Given the description of an element on the screen output the (x, y) to click on. 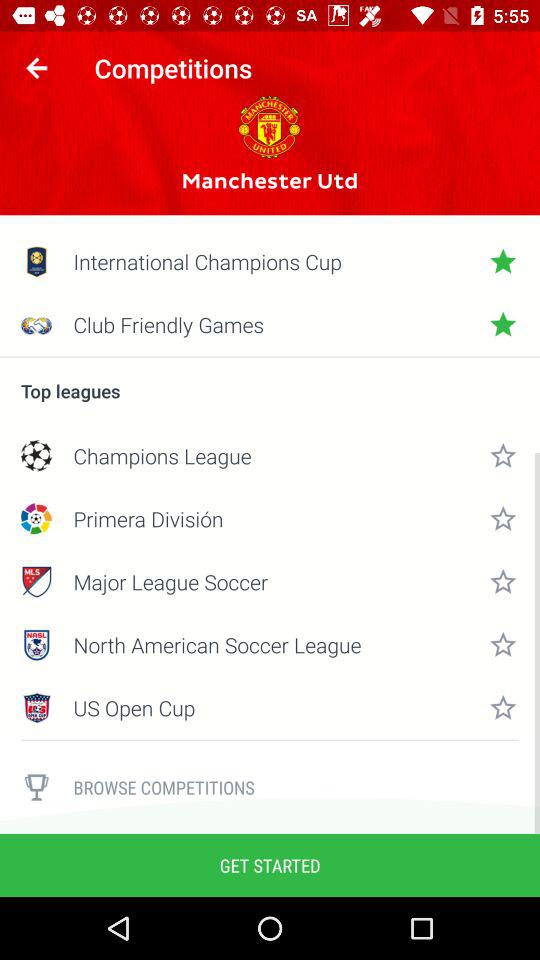
select the item below browse competitions (270, 864)
